Given the description of an element on the screen output the (x, y) to click on. 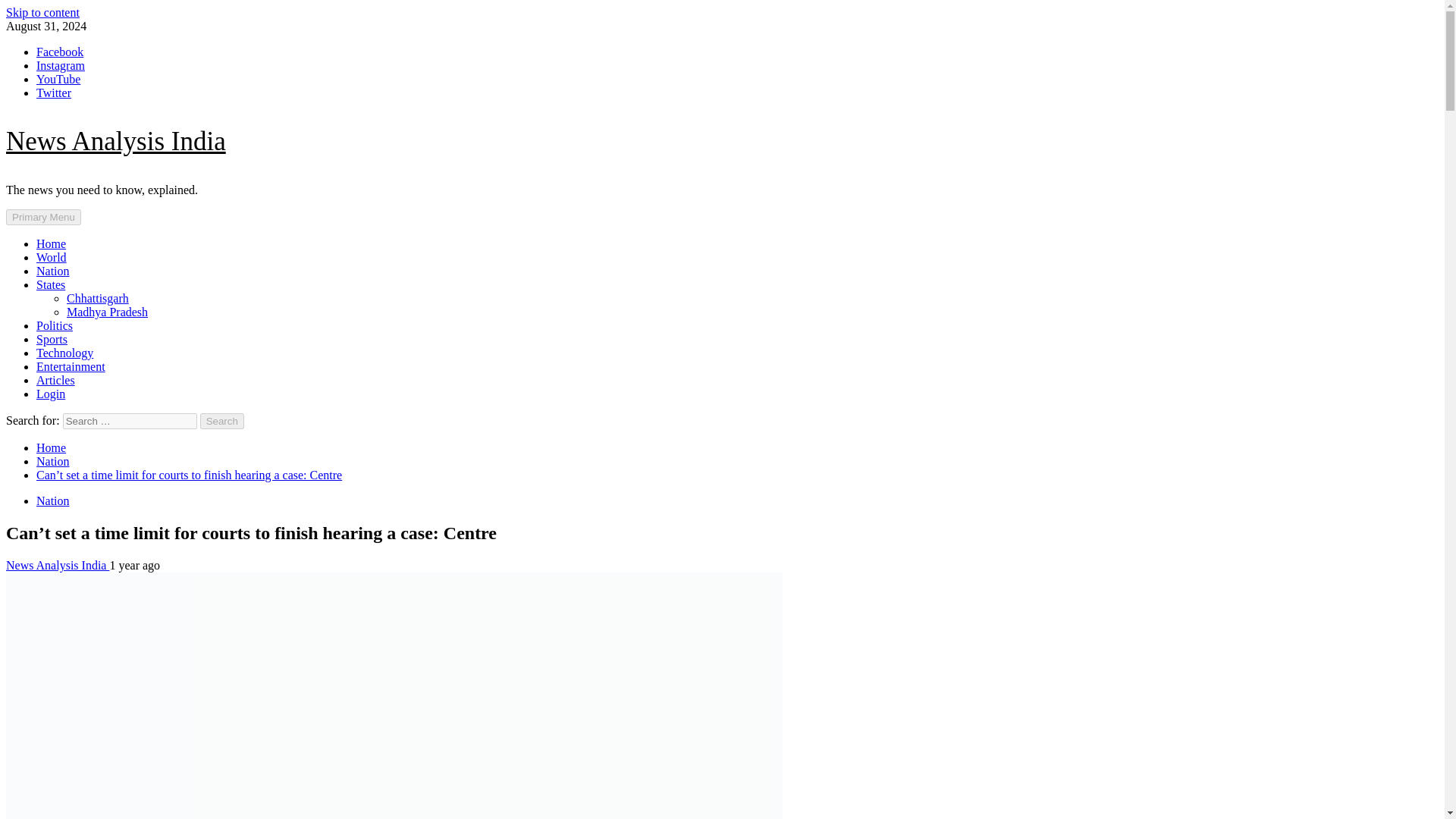
Technology (64, 352)
Madhya Pradesh (107, 311)
Chhattisgarh (97, 297)
Sports (51, 338)
Nation (52, 461)
News Analysis India (57, 564)
YouTube (58, 78)
Search (222, 421)
News Analysis India (115, 141)
States (50, 284)
